Given the description of an element on the screen output the (x, y) to click on. 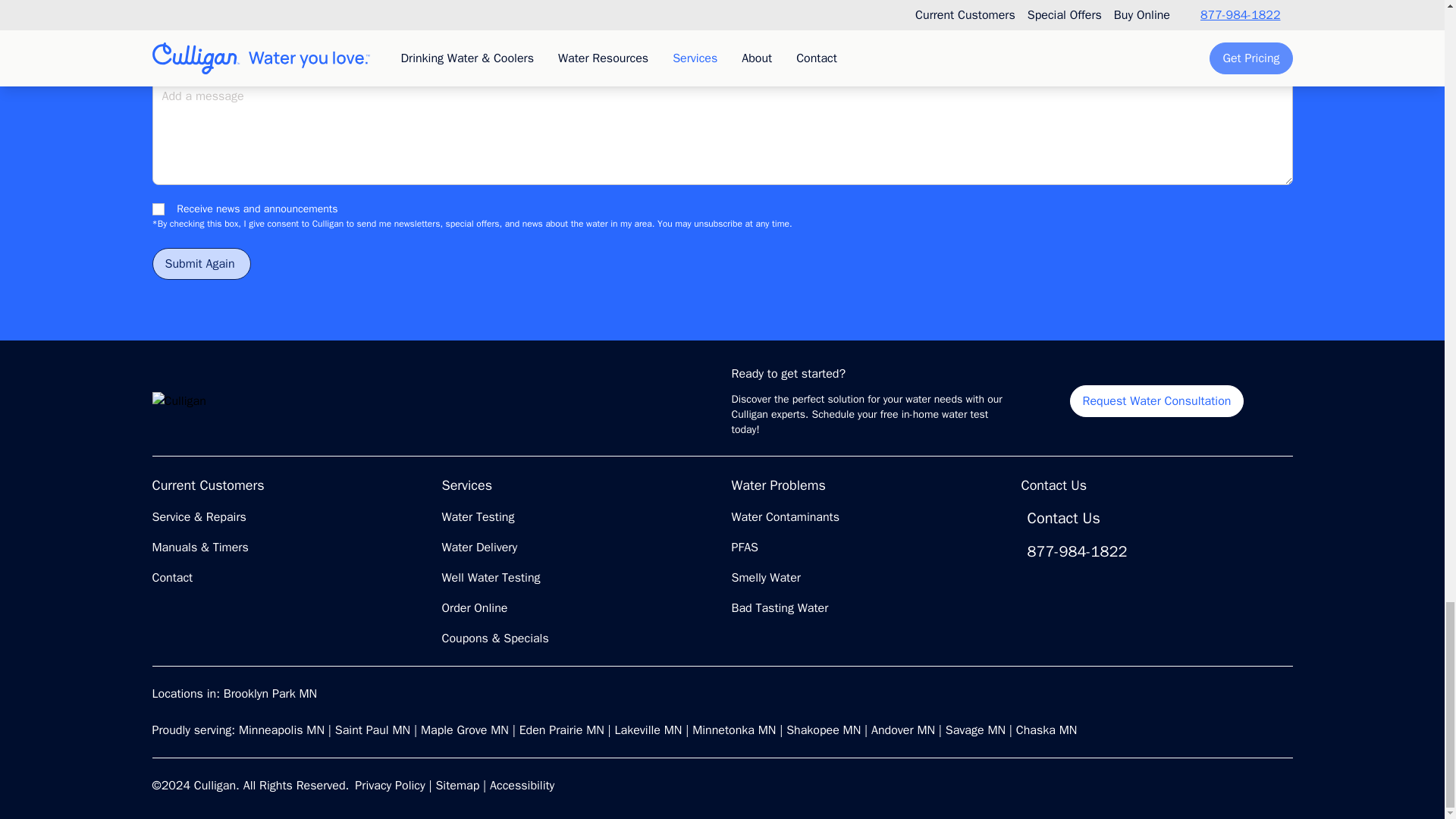
on (157, 209)
Submit Again (200, 264)
